Given the description of an element on the screen output the (x, y) to click on. 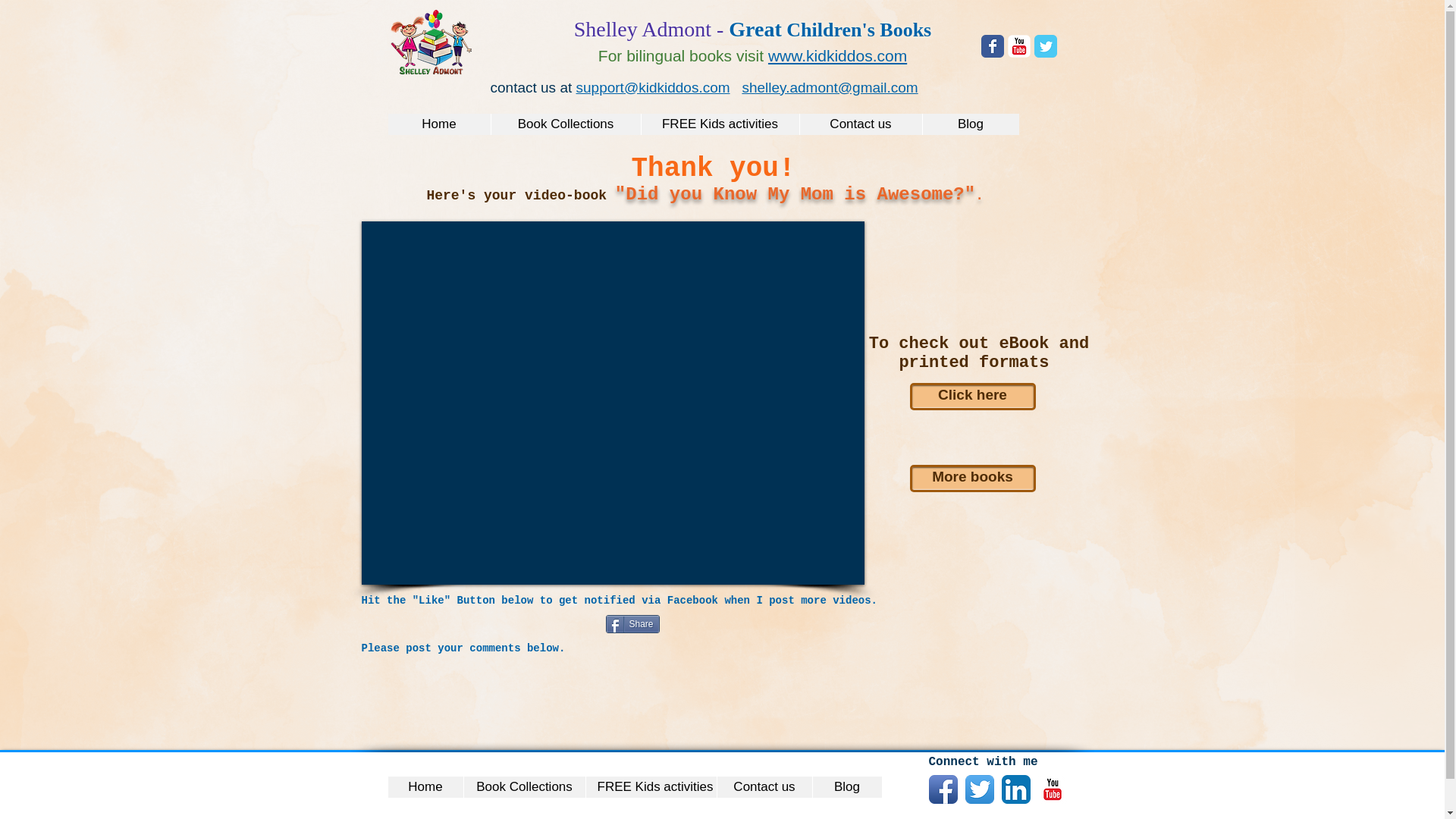
More books (972, 478)
Book Collections (524, 786)
Blog (970, 124)
www.kidkiddos.com (837, 55)
Home (439, 124)
Twitter Tweet (572, 625)
Great (754, 28)
Share (632, 624)
Click here (972, 396)
Home (425, 786)
FREE Kids activities (650, 786)
Book Collections (564, 124)
Facebook Like (455, 633)
Contact us (763, 786)
